Given the description of an element on the screen output the (x, y) to click on. 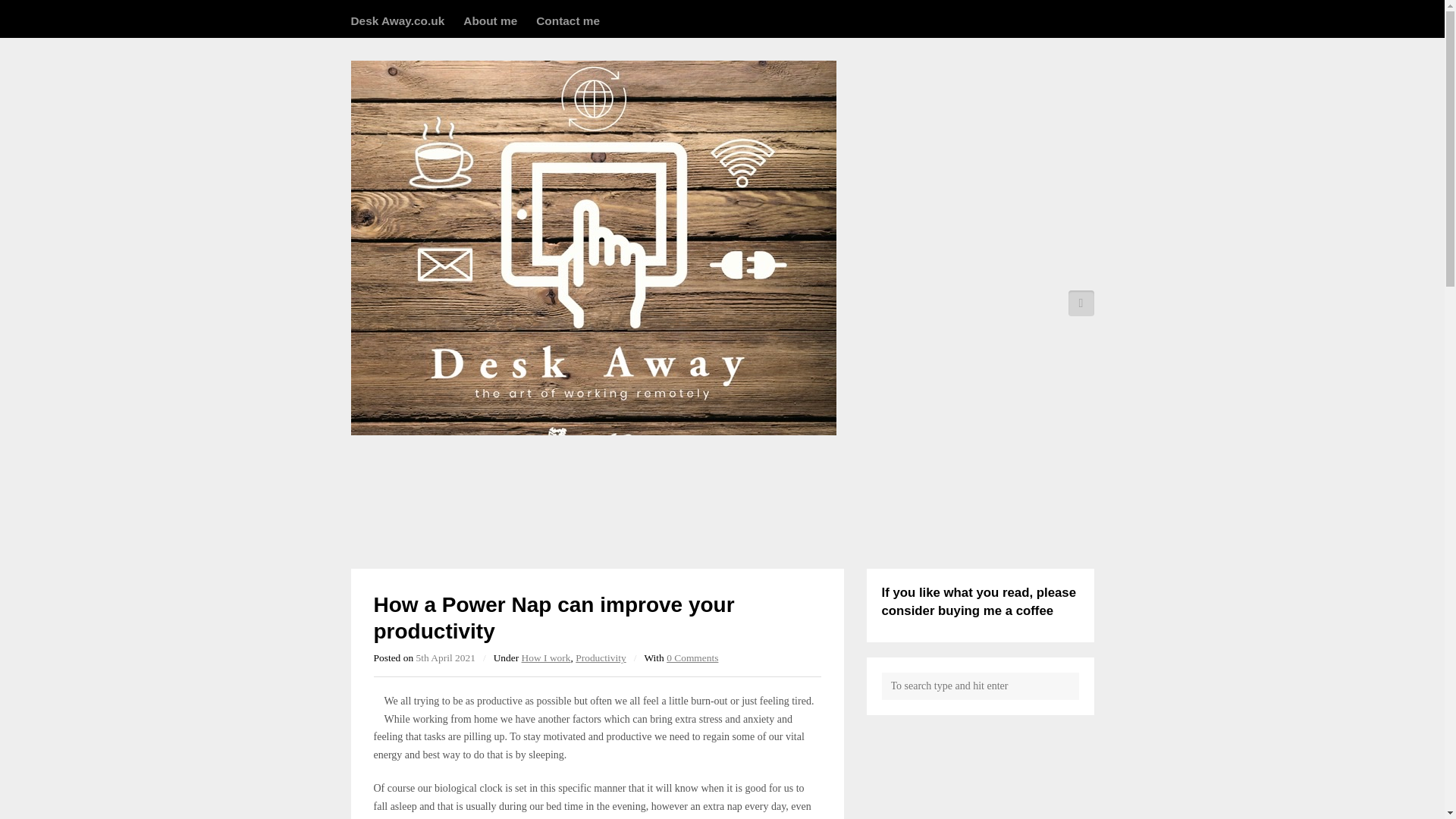
0 Comments (691, 657)
About me (489, 20)
Linkedin (1080, 303)
Desk Away.co.uk (397, 20)
Contact me (567, 20)
Productivity (600, 657)
How I work (545, 657)
